Given the description of an element on the screen output the (x, y) to click on. 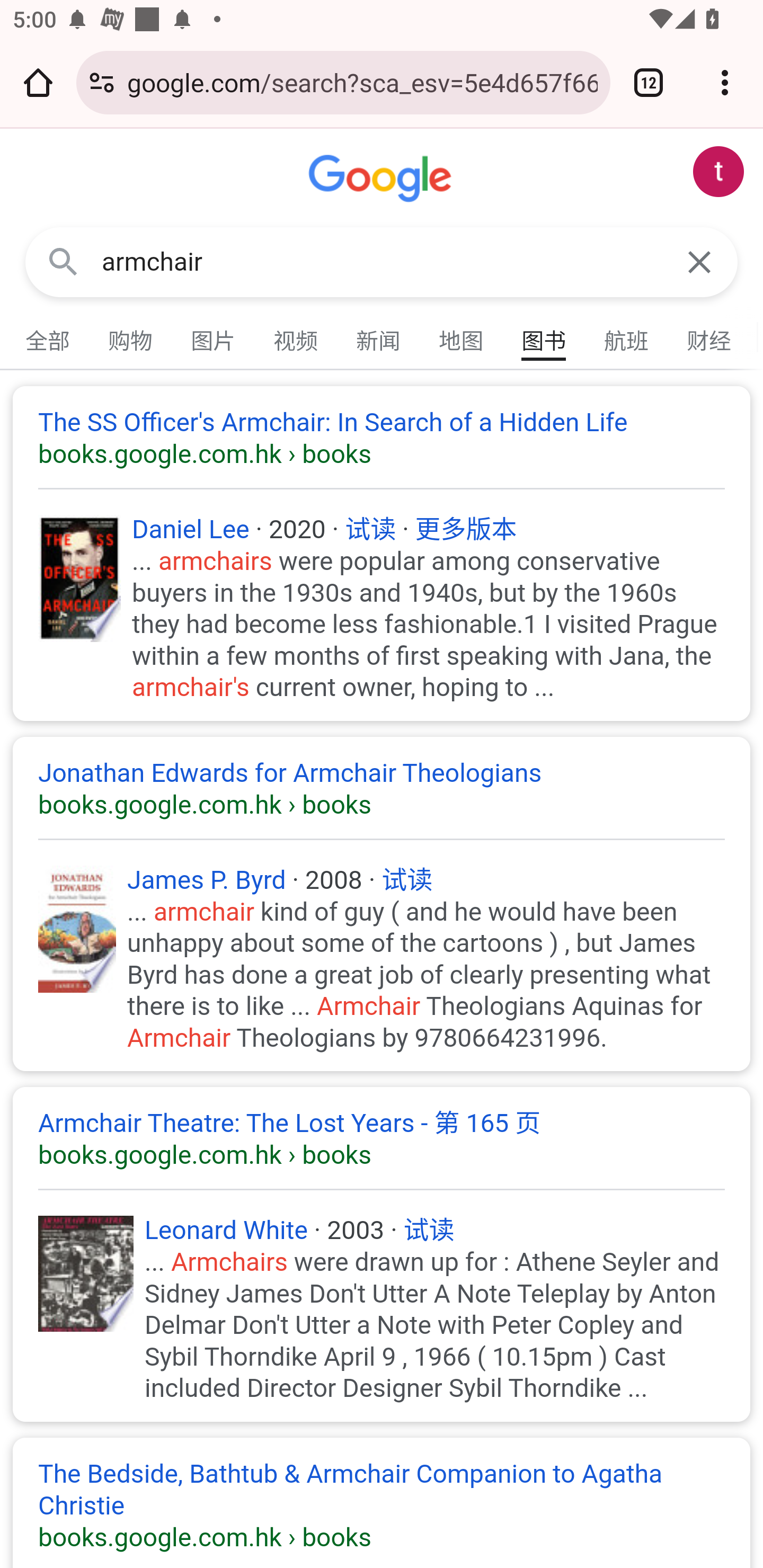
Open the home page (38, 82)
Connection is secure (101, 82)
Switch or close tabs (648, 82)
Customize and control Google Chrome (724, 82)
Google (381, 179)
Google 账号： test appium (testappium002@gmail.com) (718, 171)
Google 搜索 (63, 262)
清除搜索 (699, 262)
armchair (381, 261)
全部 (48, 336)
购物 (131, 336)
图片 (213, 336)
视频 (296, 336)
新闻 (379, 336)
地图 (461, 336)
航班 (627, 336)
财经 (709, 336)
Daniel Lee (190, 528)
试读 (370, 528)
更多版本 (466, 528)
Jonathan Edwards for Armchair Theologians (381, 788)
James P. Byrd (206, 879)
试读 (407, 879)
Armchair Theatre: The Lost Years - 第 165 页 (381, 1139)
Leonard White (226, 1229)
试读 (428, 1229)
